Given the description of an element on the screen output the (x, y) to click on. 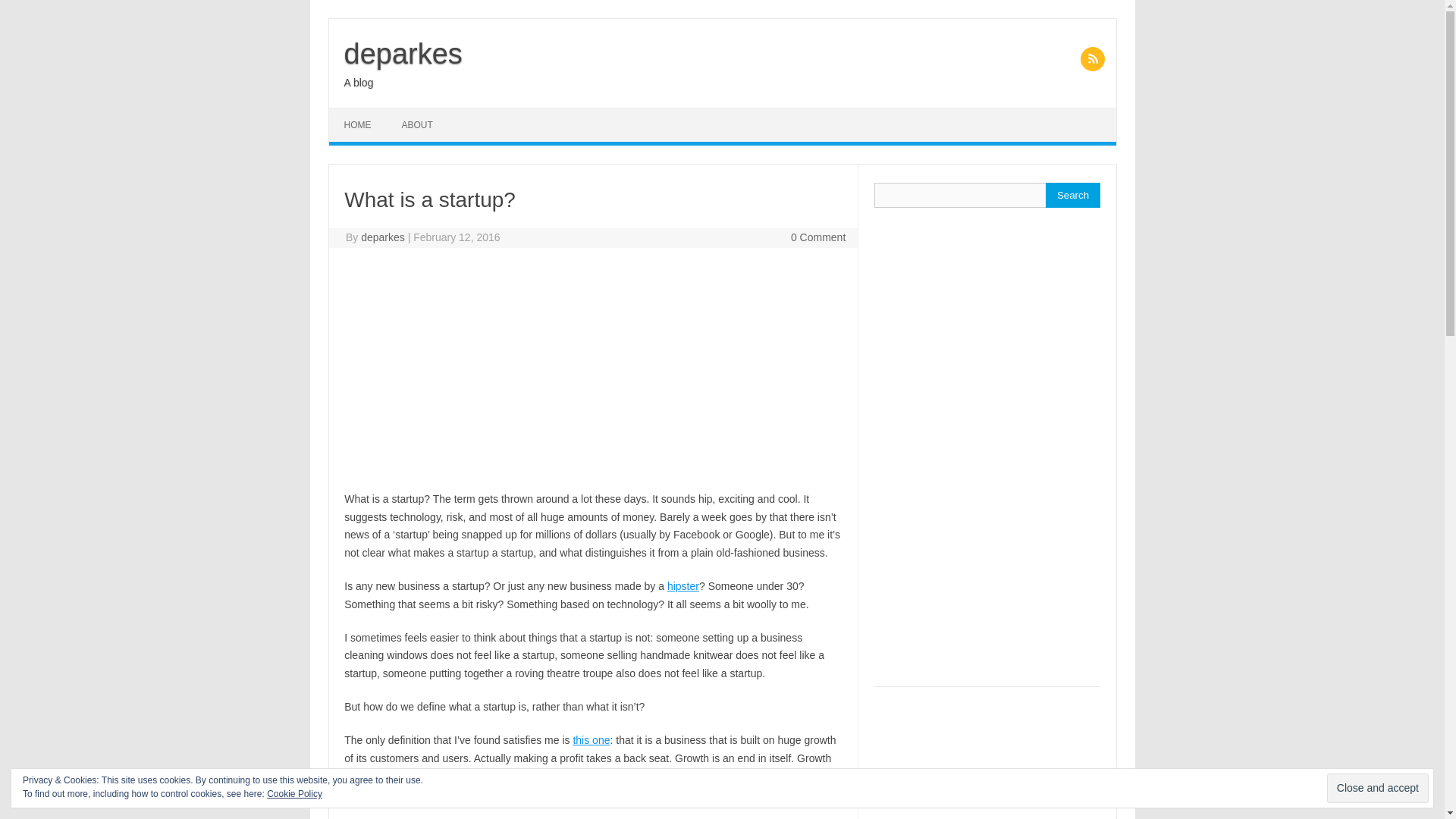
Search (1072, 195)
deparkes (382, 236)
Close and accept (1377, 788)
Advertisement (592, 368)
hipster (682, 585)
Posts by deparkes (382, 236)
ABOUT (417, 124)
A blog (358, 82)
Close and accept (1377, 788)
Search (1072, 195)
this one (591, 739)
HOME (358, 124)
0 Comment (817, 236)
